Given the description of an element on the screen output the (x, y) to click on. 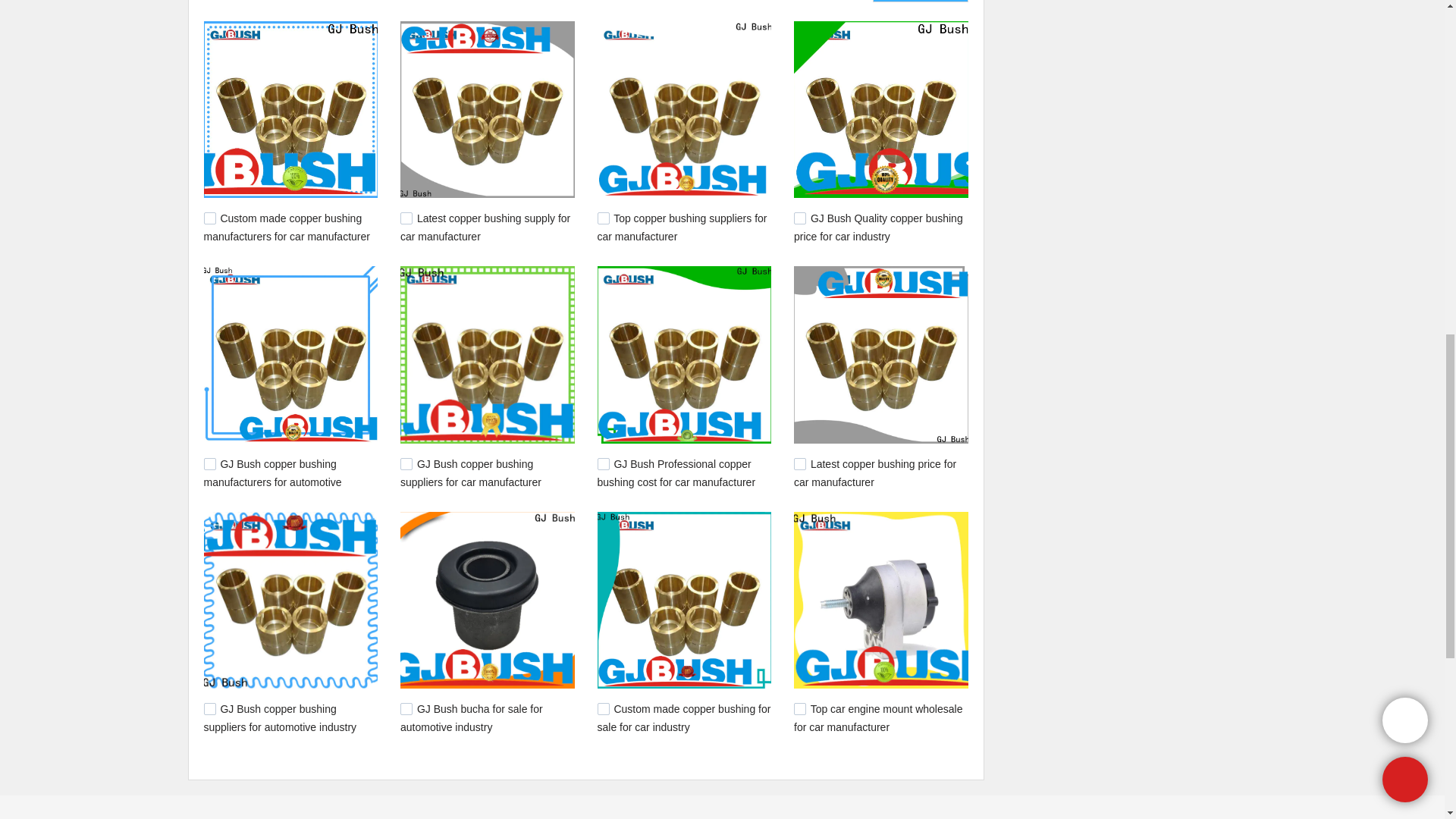
Latest copper bushing supply for car manufacturer (485, 227)
2674 (799, 463)
2814 (406, 463)
GJ Bush bucha for sale for automotive industry (471, 717)
3112 (603, 218)
799 (799, 708)
Latest copper bushing price for car manufacturer (874, 472)
2967 (799, 218)
834 (603, 708)
Custom made copper bushing for sale for car industry (683, 717)
GJ Bush copper bushing manufacturers for automotive industry (271, 480)
GJ Bush Quality copper bushing price for car industry (877, 227)
2780 (603, 463)
